Given the description of an element on the screen output the (x, y) to click on. 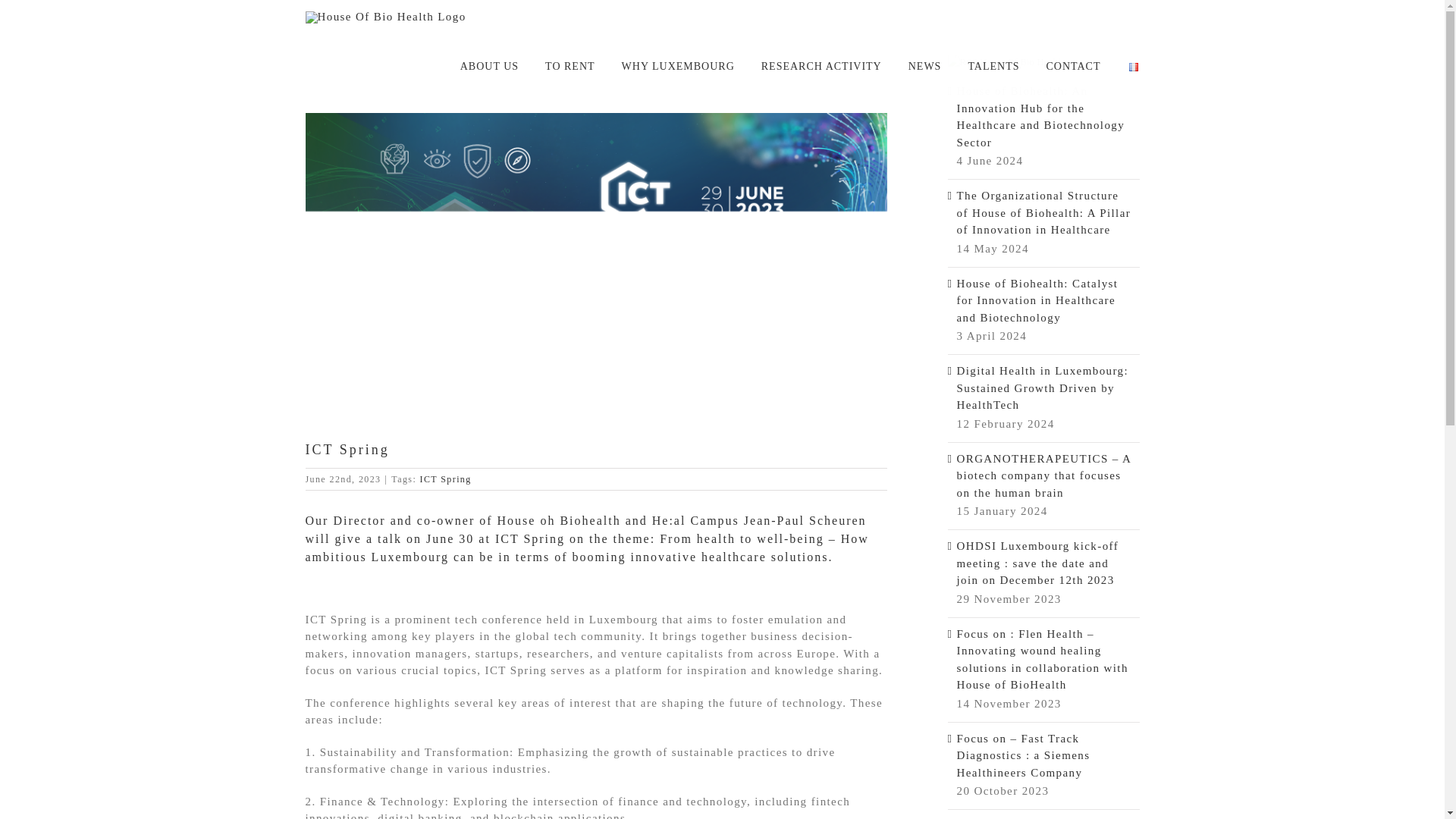
ABOUT US (489, 66)
RESEARCH ACTIVITY (821, 66)
WHY LUXEMBOURG (678, 66)
ICT Spring (445, 479)
